Given the description of an element on the screen output the (x, y) to click on. 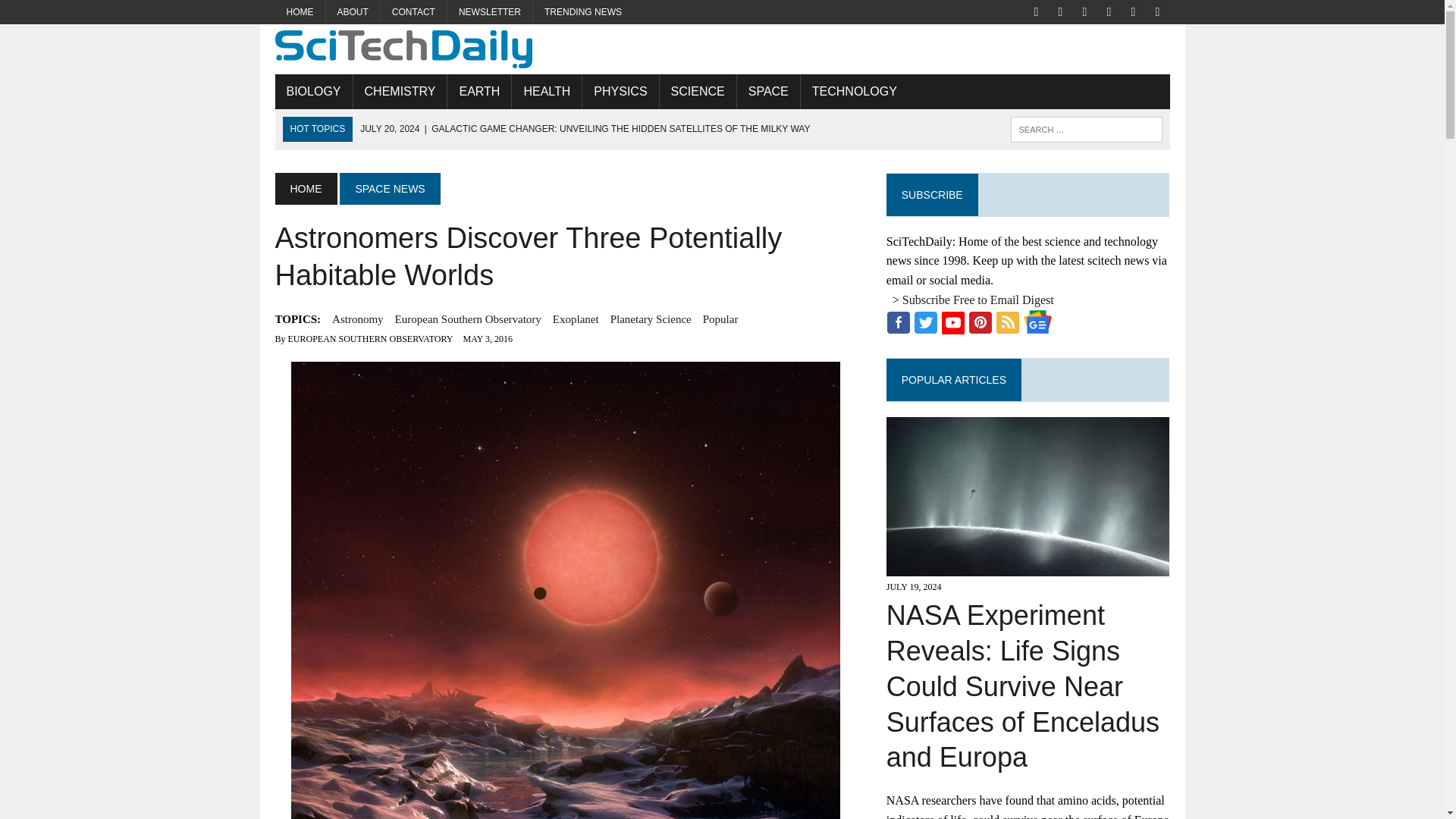
SciTechDaily Newsletter (489, 12)
CONTACT (413, 12)
HOME (299, 12)
PHYSICS (620, 91)
SPACE NEWS (389, 188)
Search (75, 14)
TECHNOLOGY (854, 91)
EARTH (478, 91)
Contact SciTechDaily.com (413, 12)
About SciTechDaily (353, 12)
SciTechDaily (722, 48)
HOME (305, 188)
SPACE (767, 91)
ABOUT (353, 12)
NEWSLETTER (489, 12)
